Given the description of an element on the screen output the (x, y) to click on. 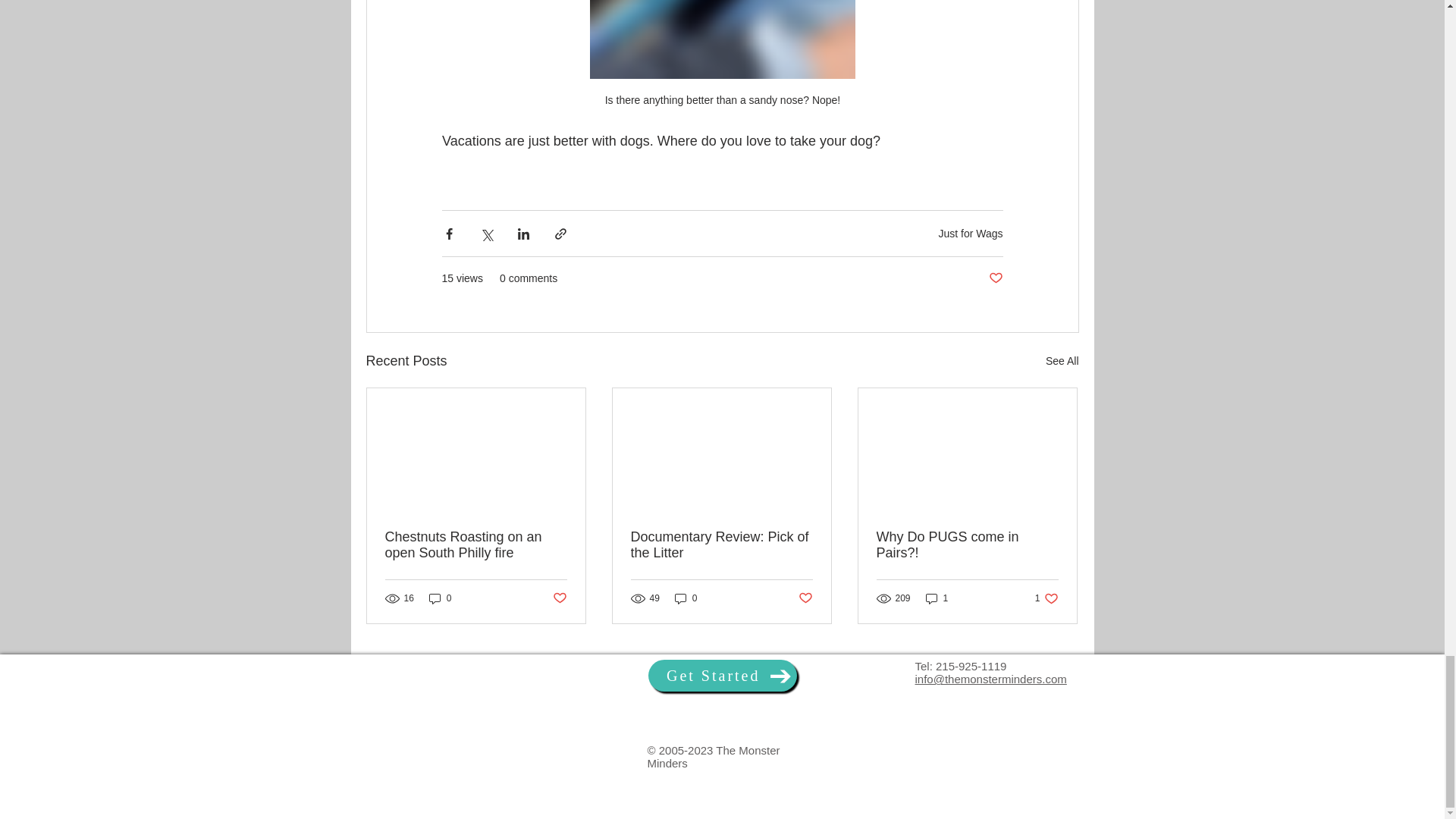
Get Started (721, 675)
See All (1061, 361)
Post not marked as liked (558, 598)
Why Do PUGS come in Pairs?! (967, 545)
Post not marked as liked (804, 598)
Chestnuts Roasting on an open South Philly fire (476, 545)
Just for Wags (970, 233)
0 (685, 598)
1 (937, 598)
Post not marked as liked (995, 278)
Documentary Review: Pick of the Litter (1046, 598)
0 (721, 545)
